Given the description of an element on the screen output the (x, y) to click on. 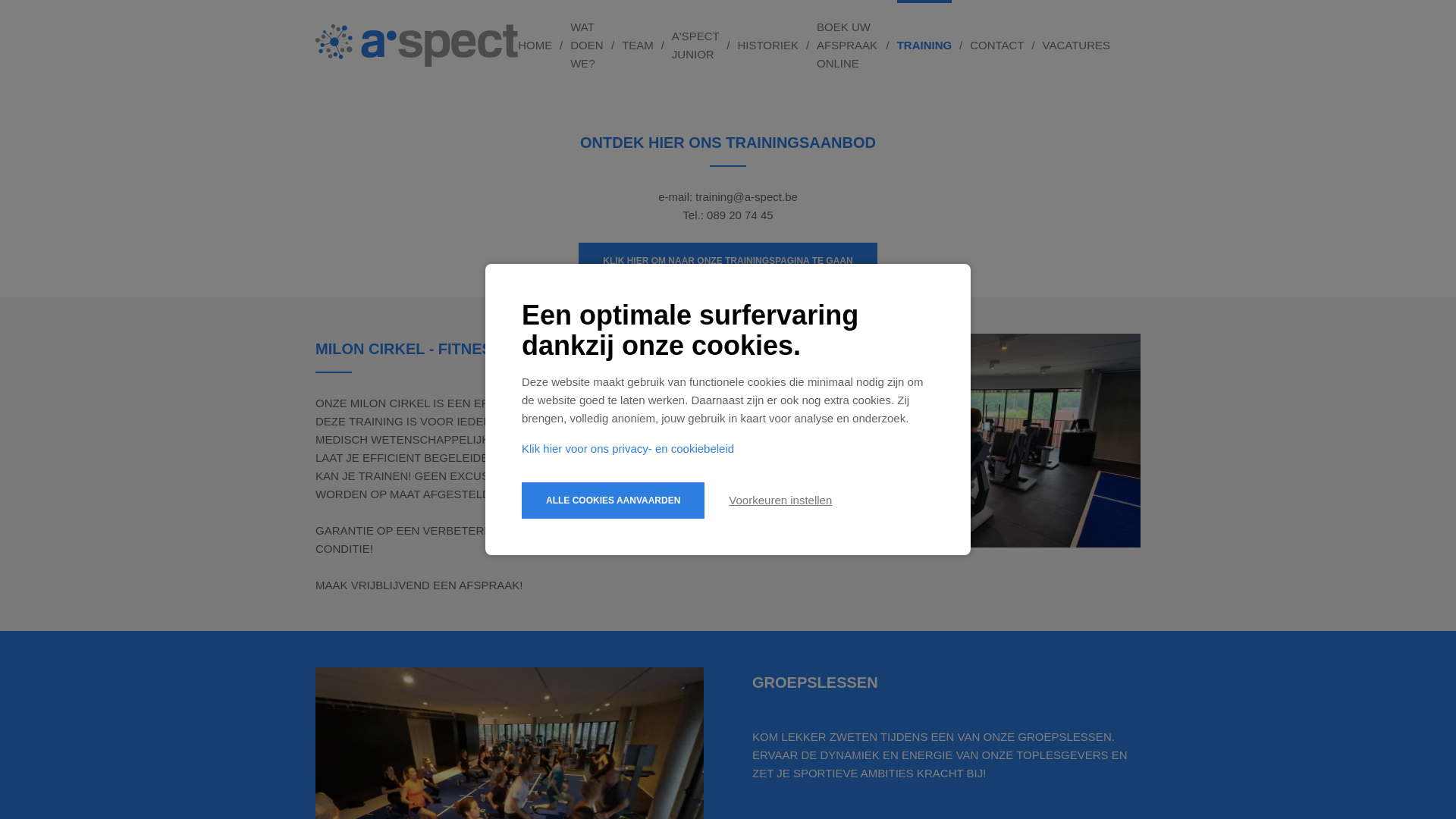
TEAM Element type: text (637, 45)
VACATURES Element type: text (1076, 45)
HISTORIEK Element type: text (767, 45)
ALLE COOKIES AANVAARDEN Element type: text (612, 500)
KLIK HIER OM NAAR ONZE TRAININGSPAGINA TE GAAN Element type: text (727, 260)
CONTACT Element type: text (996, 45)
Voorkeuren instellen Element type: text (779, 499)
TRAINING Element type: text (924, 45)
Klik hier voor ons privacy- en cookiebeleid Element type: text (627, 448)
HOME Element type: text (534, 45)
BOEK UW AFSPRAAK ONLINE Element type: text (847, 45)
A'SPECT JUNIOR Element type: text (695, 45)
WAT DOEN WE? Element type: text (586, 45)
